Given the description of an element on the screen output the (x, y) to click on. 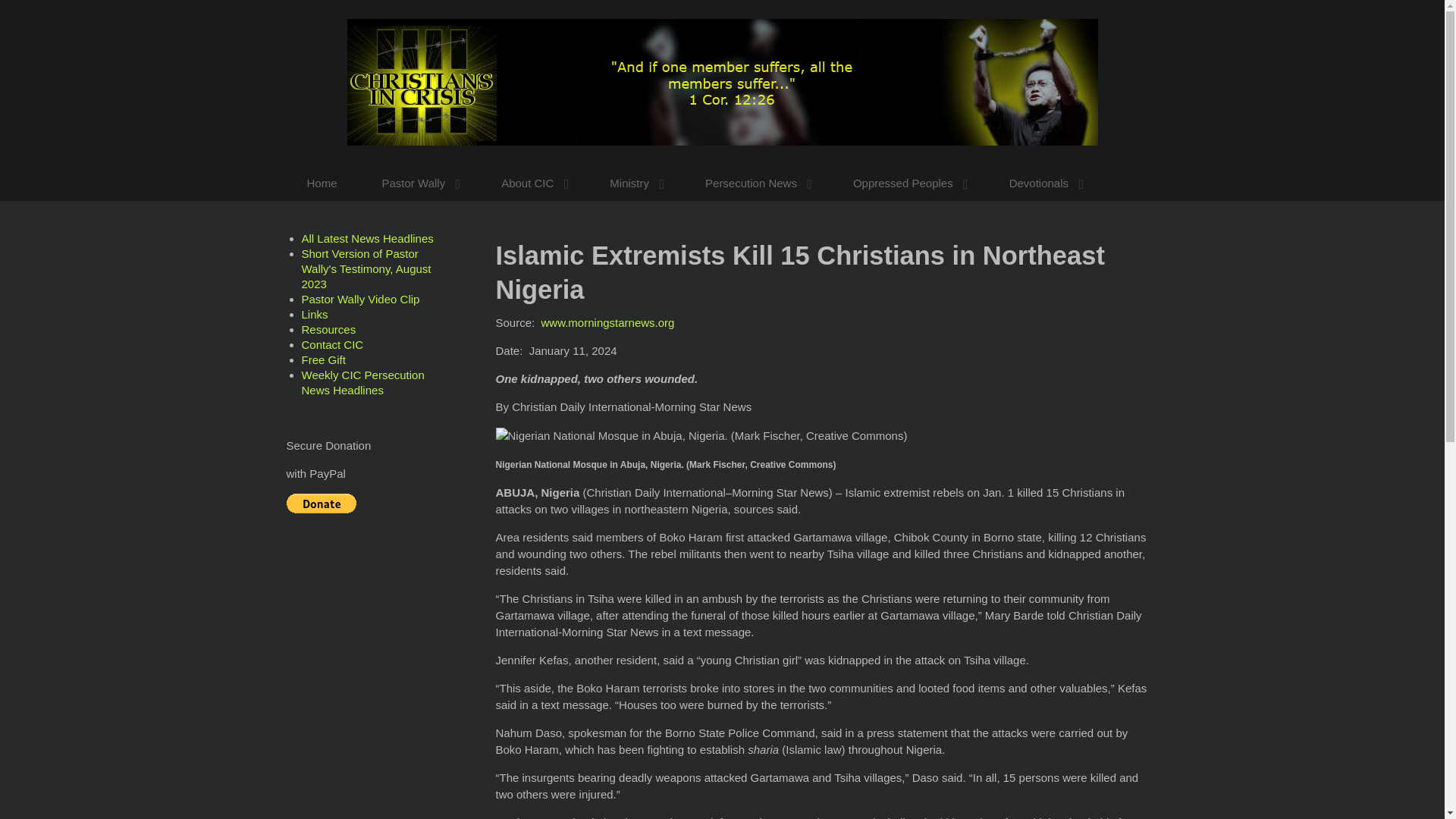
Home (321, 182)
